Given the description of an element on the screen output the (x, y) to click on. 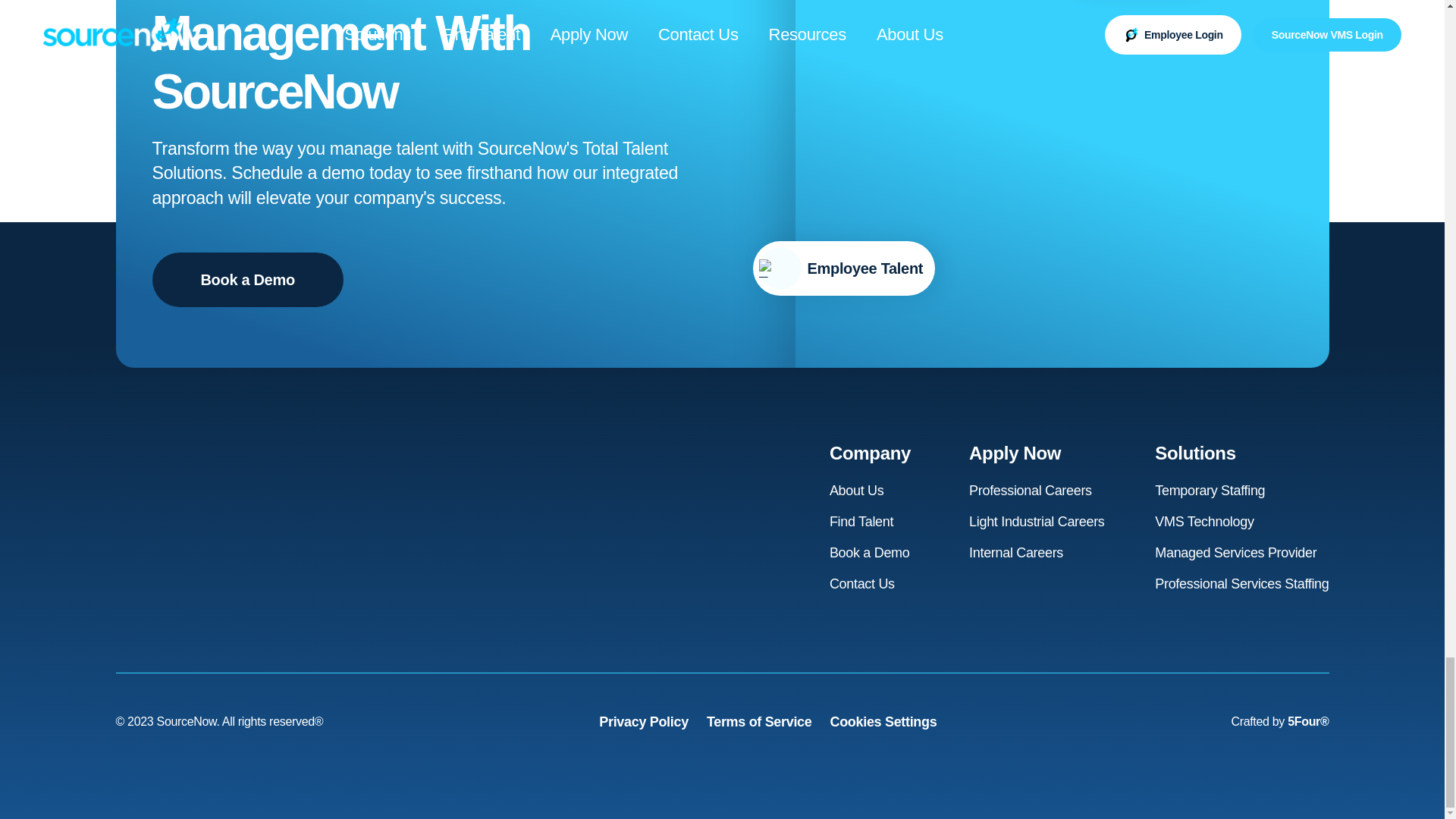
About Us (856, 490)
Find Talent (861, 521)
Book a Demo (869, 552)
Contact Us (862, 583)
Book a Demo (246, 279)
